Given the description of an element on the screen output the (x, y) to click on. 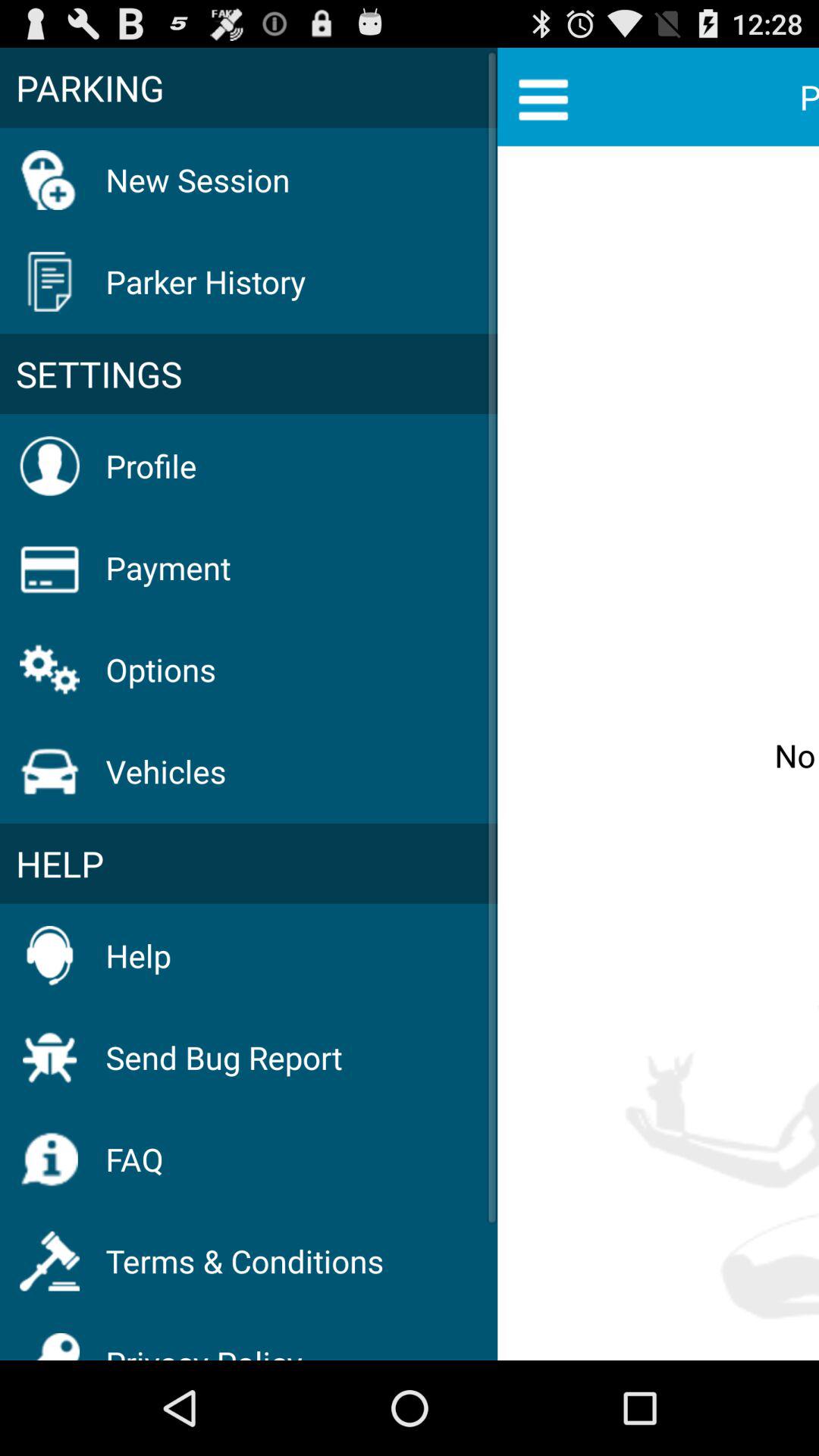
turn off the vehicles icon (165, 770)
